Given the description of an element on the screen output the (x, y) to click on. 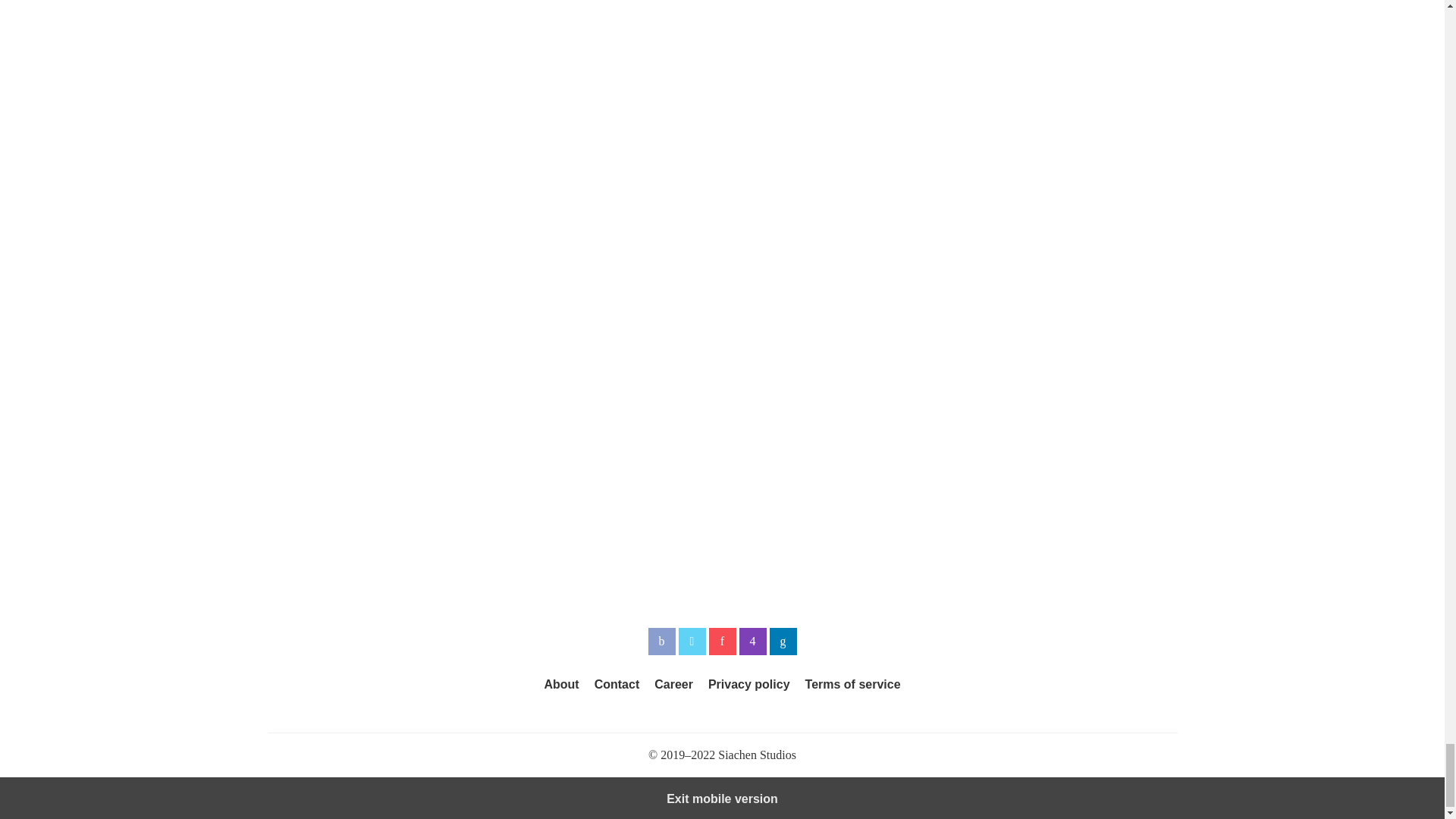
LinkedIn (782, 641)
Instagram (751, 641)
Twitter (691, 641)
Pinterest (721, 641)
Facebook (661, 641)
